Given the description of an element on the screen output the (x, y) to click on. 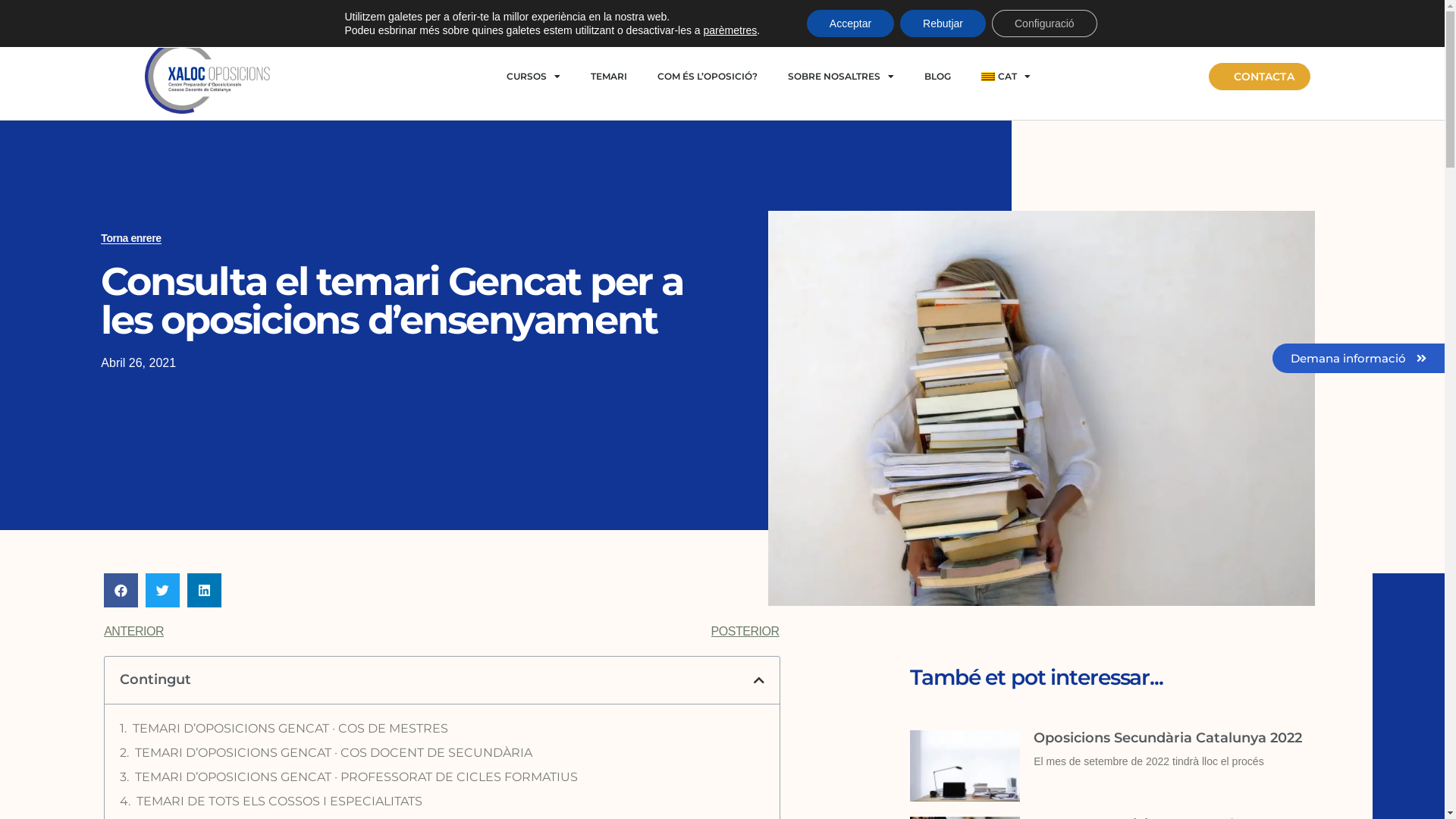
TEMARI DE TOTS ELS COSSOS I ESPECIALITATS Element type: text (279, 801)
TEMARI Element type: text (608, 76)
POSTERIOR Element type: text (609, 631)
SOBRE NOSALTRES Element type: text (840, 76)
Acceptar Element type: text (850, 23)
Truca'ns al 93 280 09 90 Element type: text (553, 16)
Contacta per WhatsApp Element type: text (263, 16)
Torna enrere Element type: text (130, 238)
Campus Virtual Element type: text (1140, 16)
CONTACTA Element type: text (1259, 76)
ANTERIOR Element type: text (272, 631)
CAT Element type: text (1005, 76)
CURSOS Element type: text (533, 76)
info@xalocoposicions.cat Element type: text (851, 16)
BLOG Element type: text (937, 76)
Rebutjar Element type: text (942, 23)
